Given the description of an element on the screen output the (x, y) to click on. 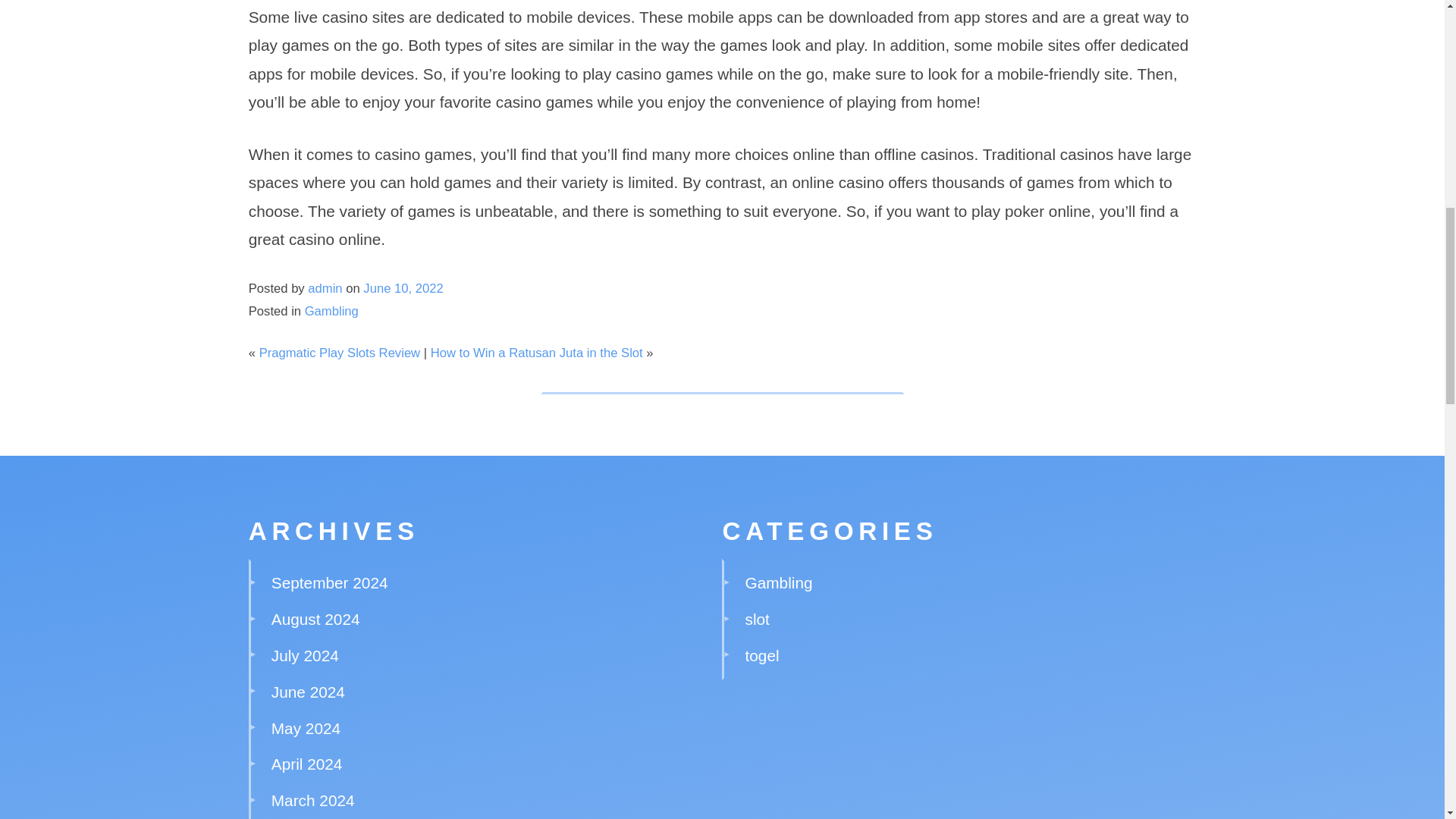
June 2024 (307, 692)
Pragmatic Play Slots Review (339, 352)
August 2024 (314, 619)
How to Win a Ratusan Juta in the Slot (536, 352)
June 10, 2022 (402, 288)
March 2024 (312, 800)
September 2024 (329, 582)
May 2024 (305, 728)
Gambling (331, 310)
April 2024 (306, 764)
